Given the description of an element on the screen output the (x, y) to click on. 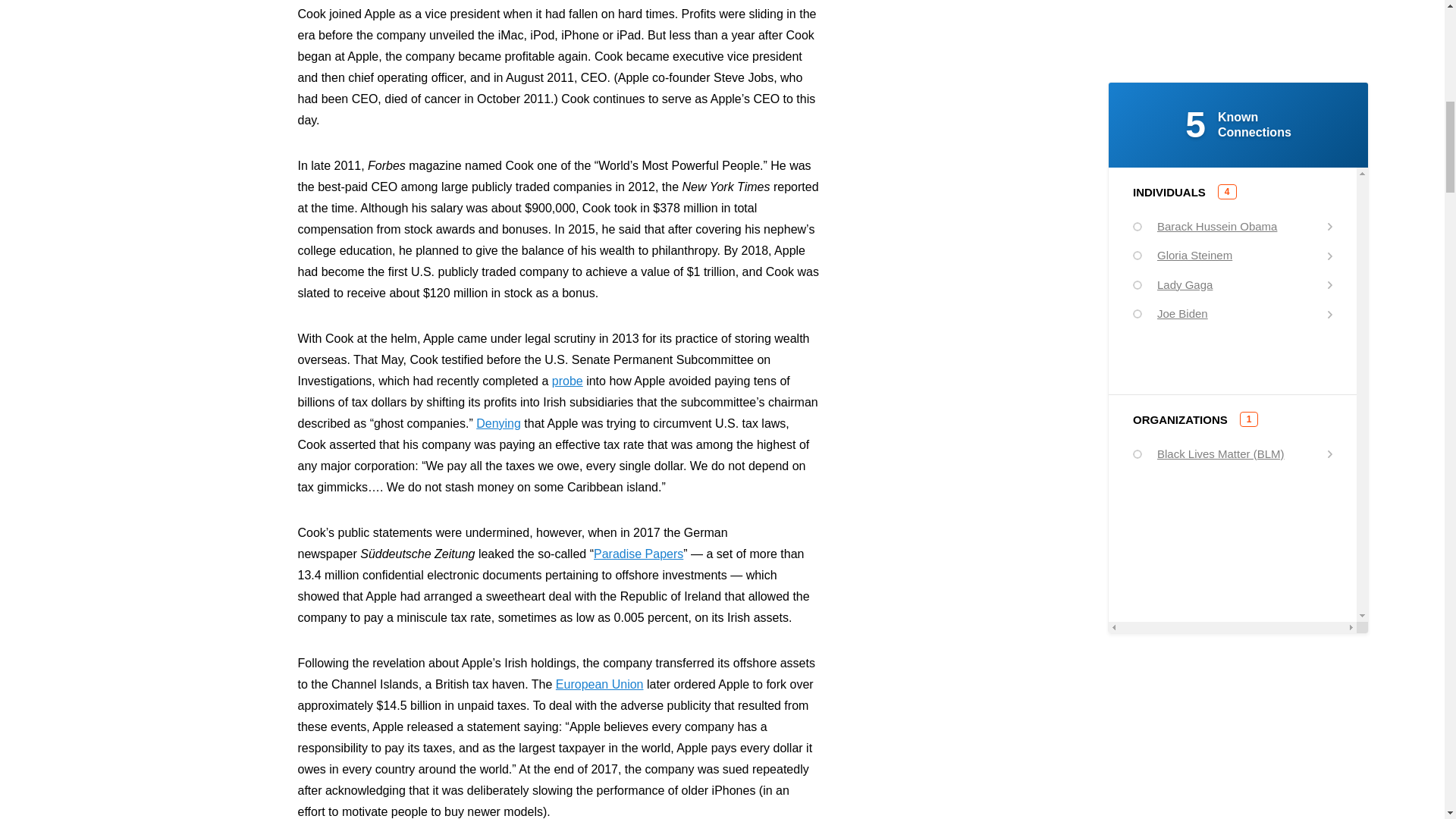
Paradise Papers (638, 553)
probe (567, 380)
European Union (599, 684)
Denying (498, 422)
